Given the description of an element on the screen output the (x, y) to click on. 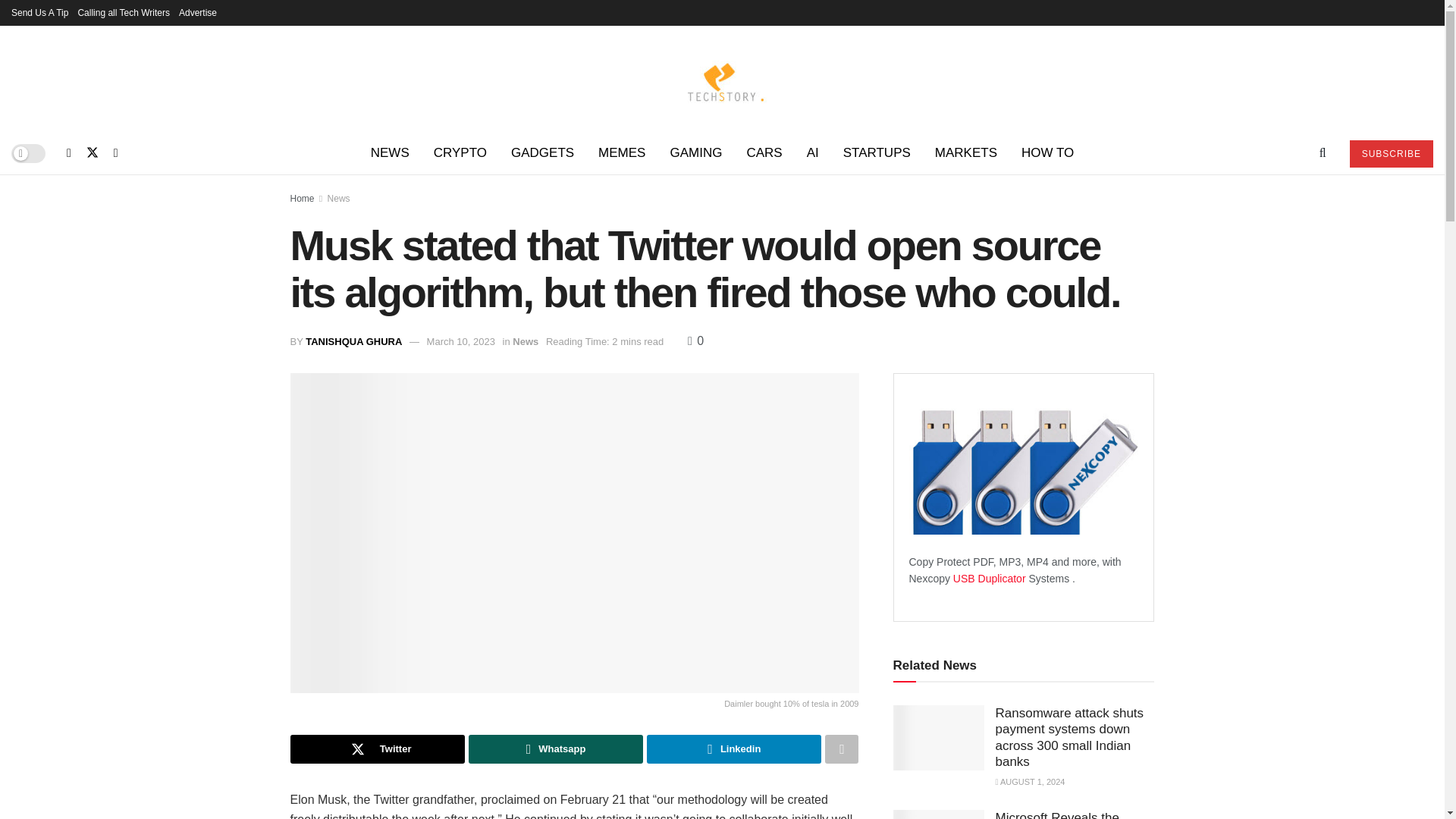
MEMES (622, 152)
MARKETS (966, 152)
CRYPTO (460, 152)
Advertise (197, 12)
GADGETS (542, 152)
SUBSCRIBE (1390, 153)
HOW TO (1047, 152)
STARTUPS (877, 152)
Home (301, 198)
GAMING (695, 152)
CARS (763, 152)
TANISHQUA GHURA (353, 341)
Calling all Tech Writers (123, 12)
USB duplicator (989, 578)
NEWS (390, 152)
